Given the description of an element on the screen output the (x, y) to click on. 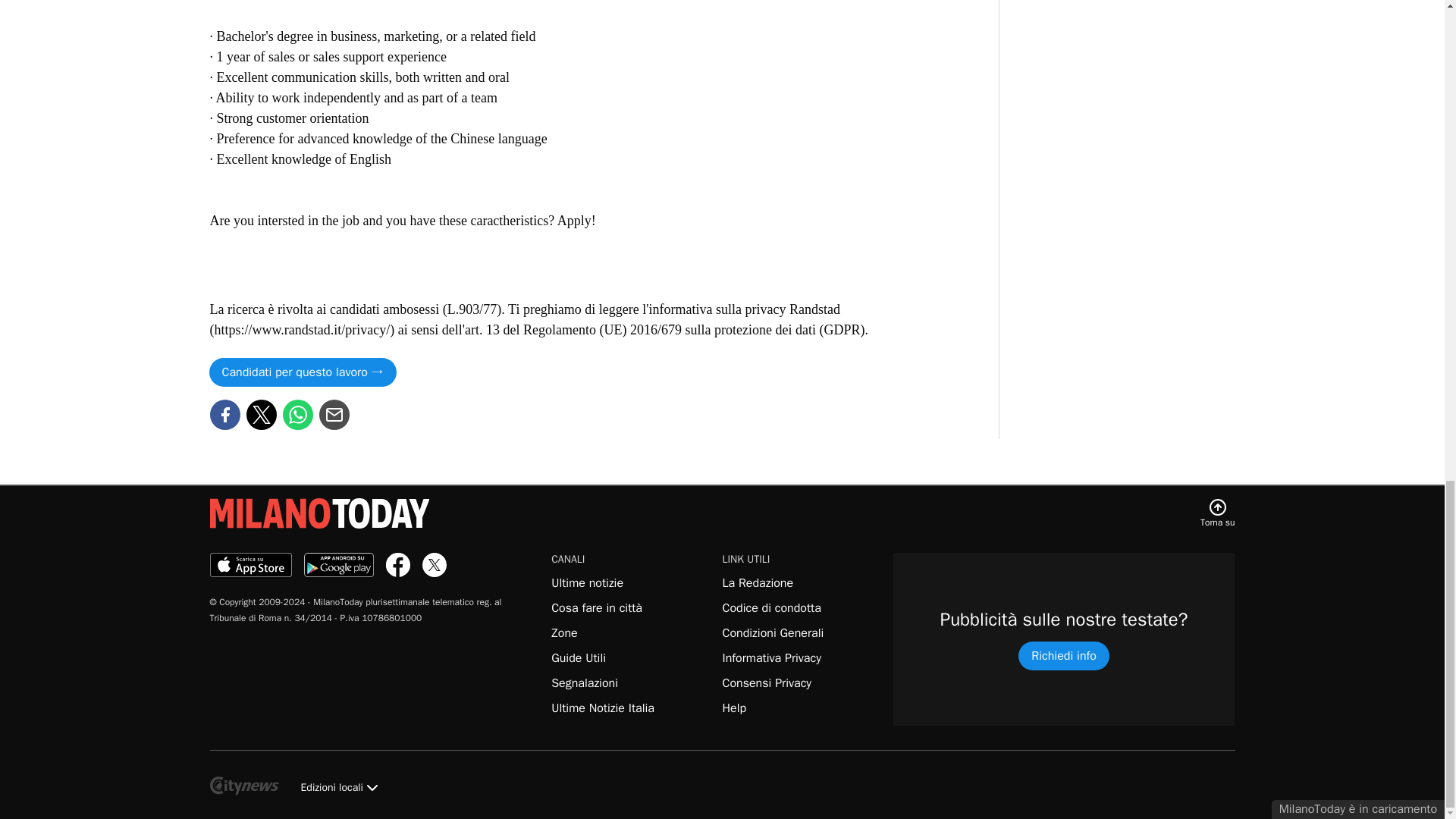
Facebook (223, 414)
Condizioni Generali (773, 632)
Ultime notizie (587, 582)
Ultime notizie (602, 708)
La Redazione (757, 582)
Ultime Notizie Italia (602, 708)
Email (333, 414)
Torna su (1216, 512)
Zone (564, 632)
Segnalazioni (584, 683)
